Given the description of an element on the screen output the (x, y) to click on. 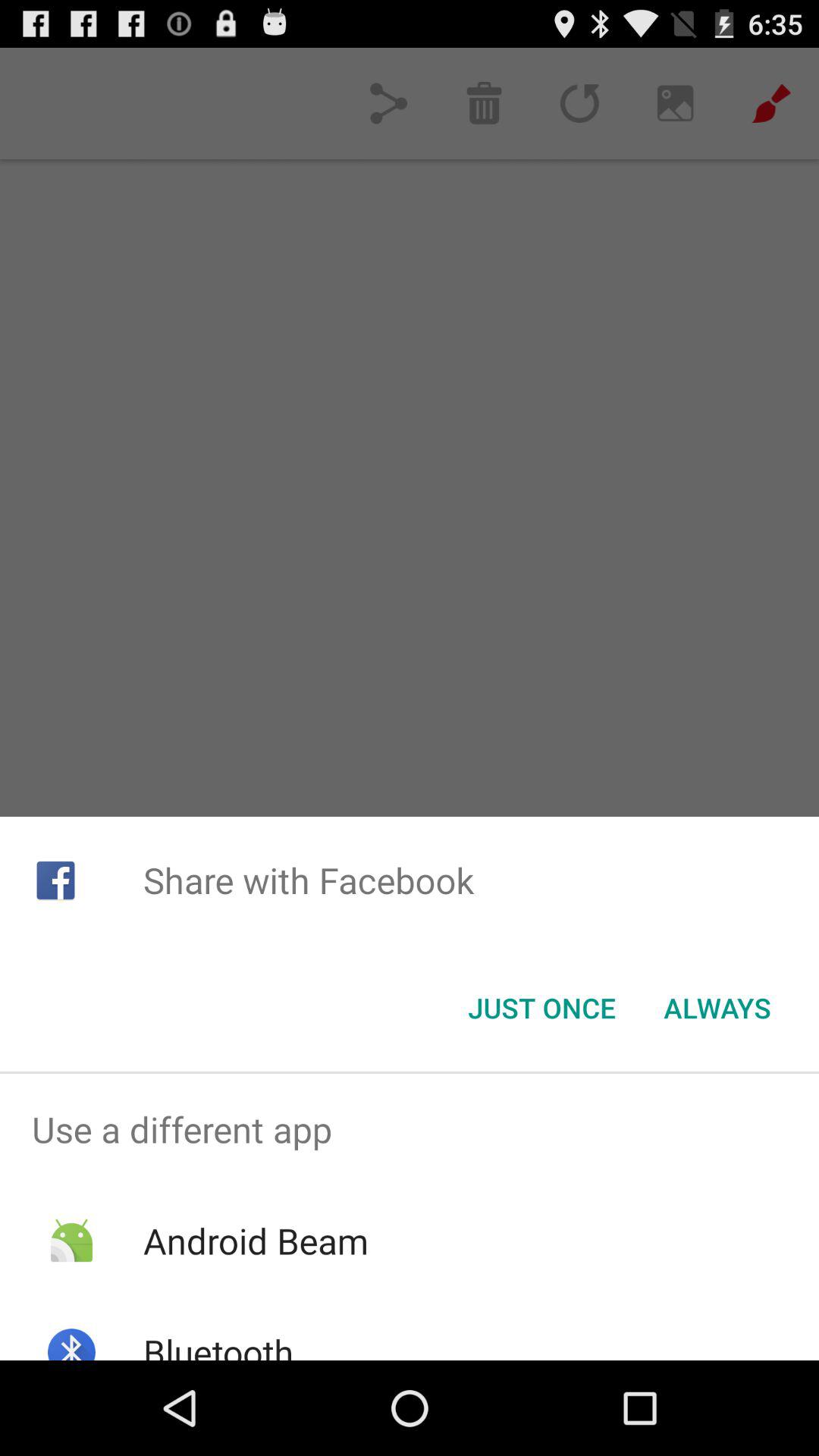
press the item above android beam app (409, 1129)
